Given the description of an element on the screen output the (x, y) to click on. 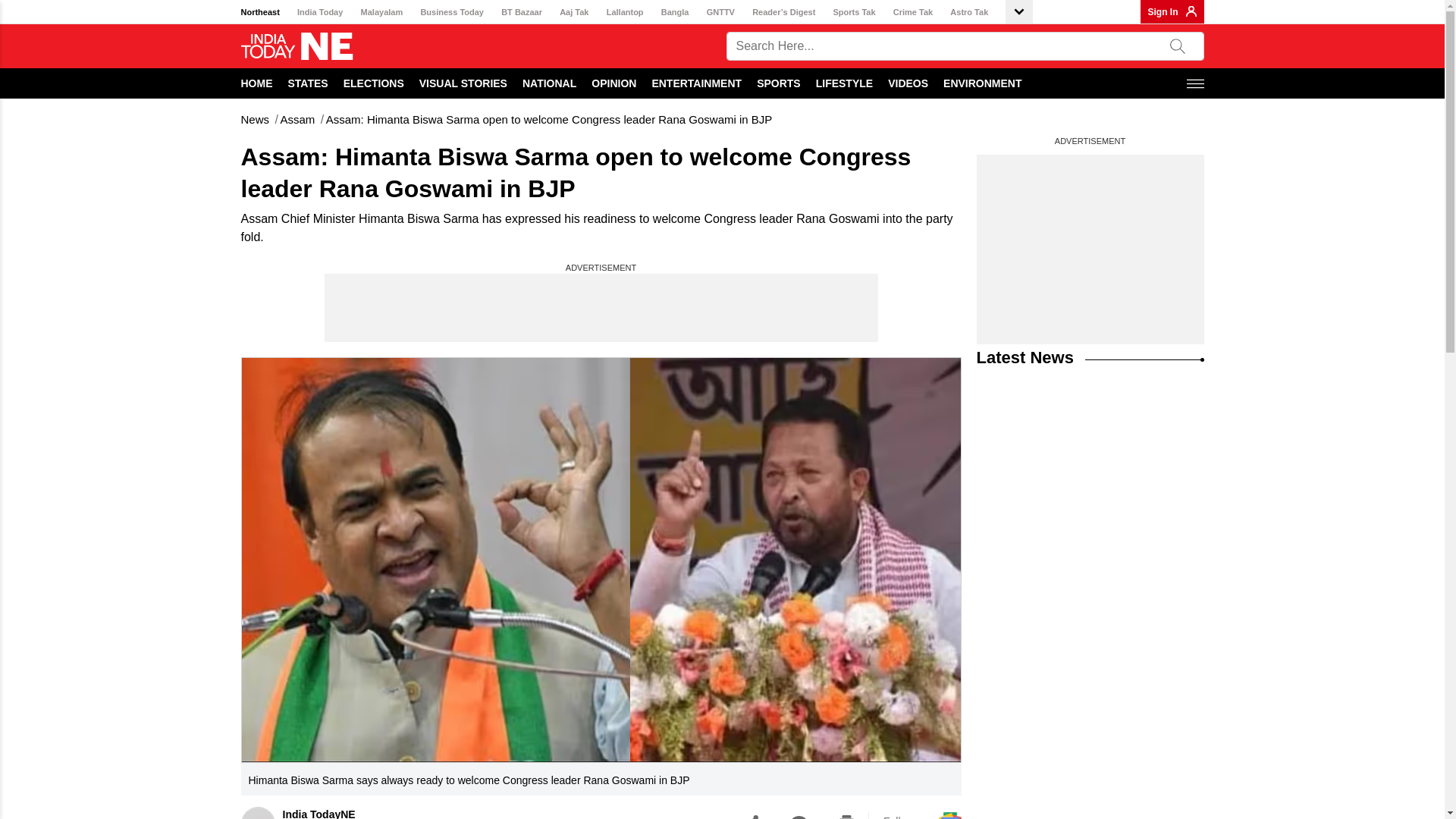
VISUAL STORIES (462, 82)
Malayalam (382, 12)
Northeast (260, 12)
NATIONAL (549, 82)
Malayalam (382, 12)
HOME (257, 82)
Lallantop (625, 12)
BT Bazaar (520, 12)
BT Bazaar (520, 12)
Business Today (451, 12)
